Given the description of an element on the screen output the (x, y) to click on. 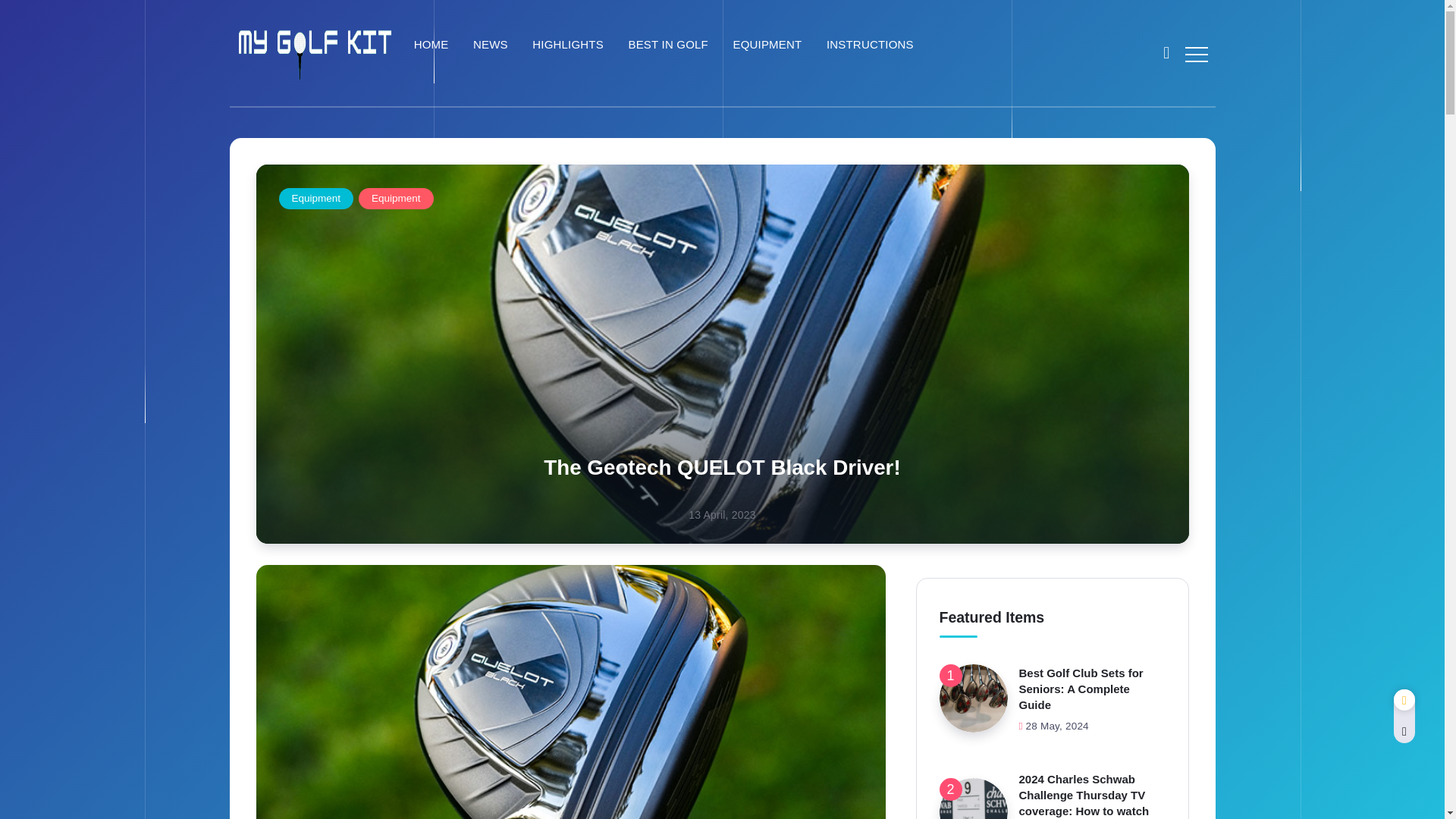
EQUIPMENT (769, 44)
INSTRUCTIONS (872, 44)
Equipment (316, 198)
My Golf kit (314, 51)
NEWS (492, 44)
BEST IN GOLF (671, 44)
HIGHLIGHTS (570, 44)
Equipment (395, 198)
